Given the description of an element on the screen output the (x, y) to click on. 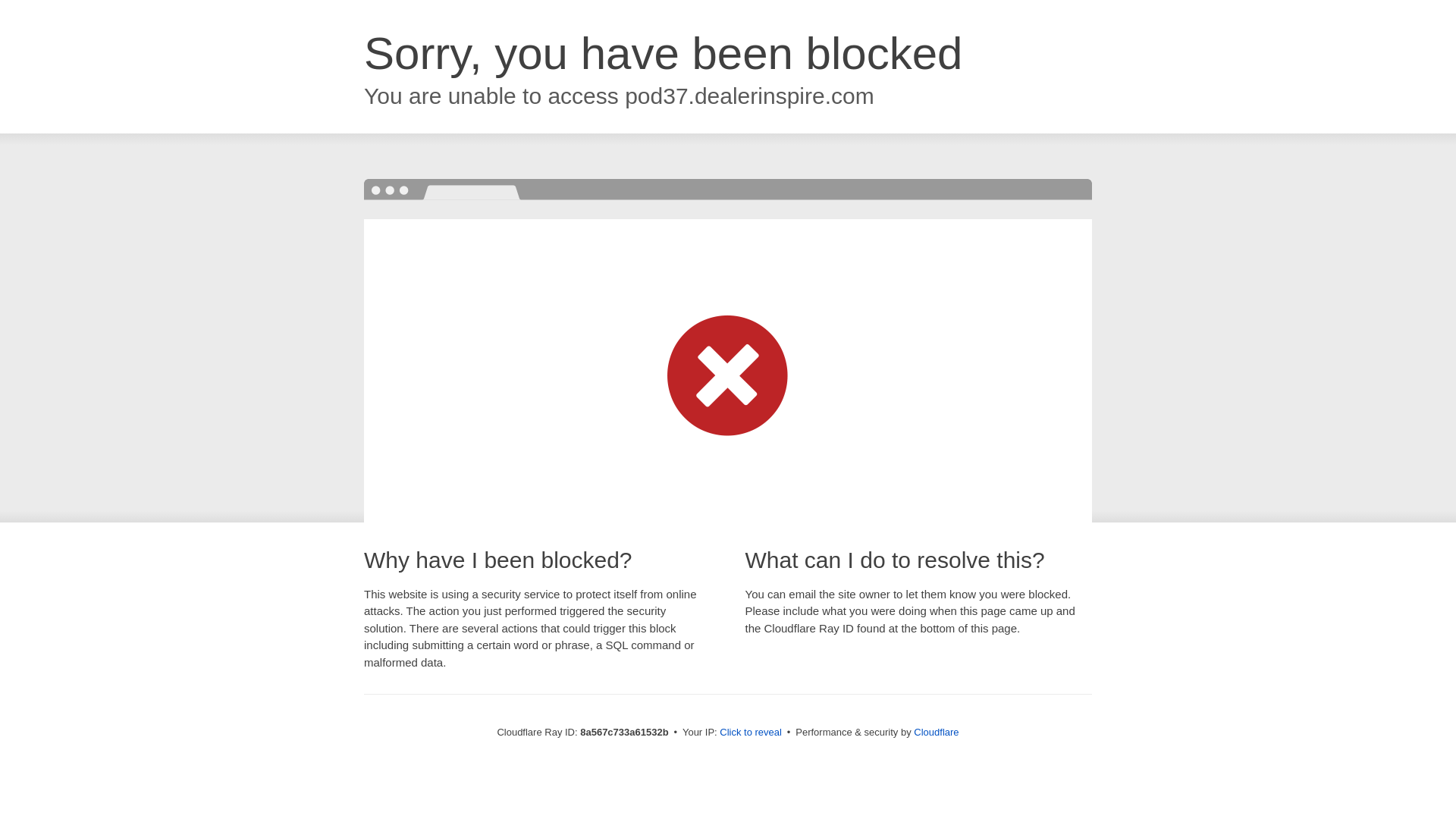
Cloudflare (936, 731)
Click to reveal (750, 732)
